Given the description of an element on the screen output the (x, y) to click on. 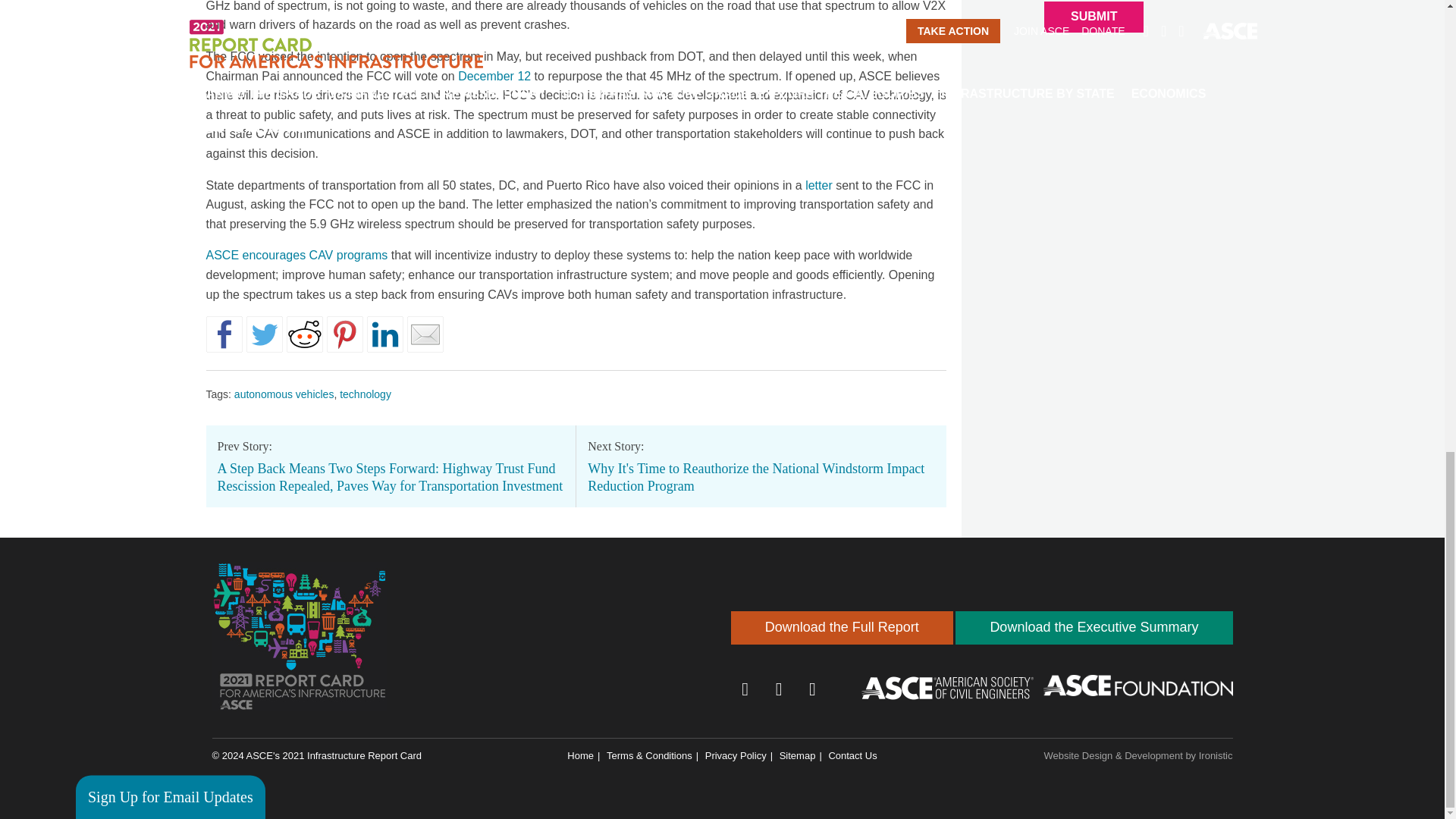
Submit (1092, 16)
No (92, 185)
Yes (92, 162)
Submit (136, 294)
Share on Facebook (224, 334)
Share on Twitter (264, 334)
Share on Reddit (304, 334)
Pin it with Pinterest (344, 334)
